Given the description of an element on the screen output the (x, y) to click on. 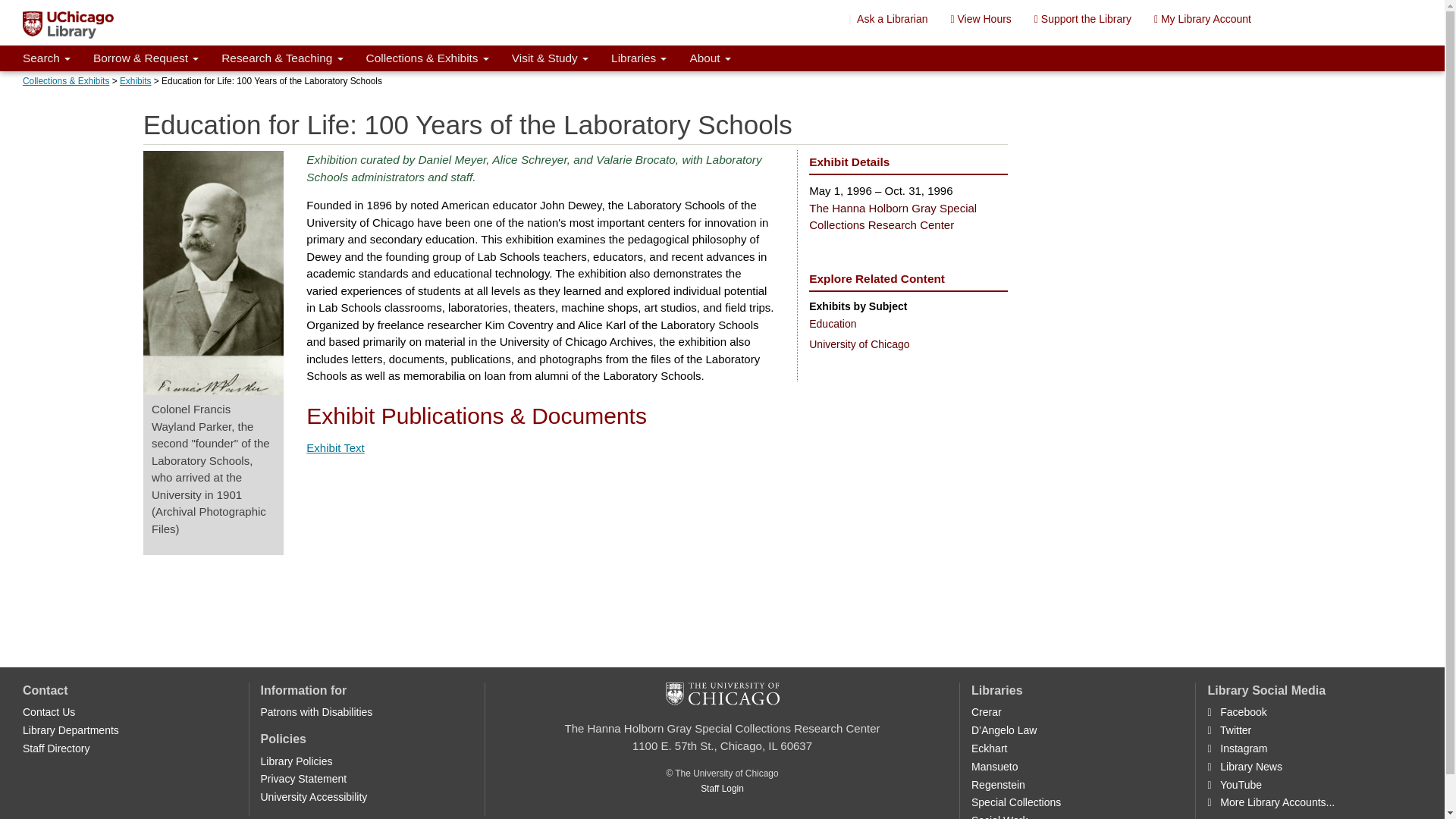
My Library Account (1202, 18)
Ask a Librarian (888, 18)
Search (46, 58)
Support the Library (1082, 18)
View Hours (980, 18)
